Given the description of an element on the screen output the (x, y) to click on. 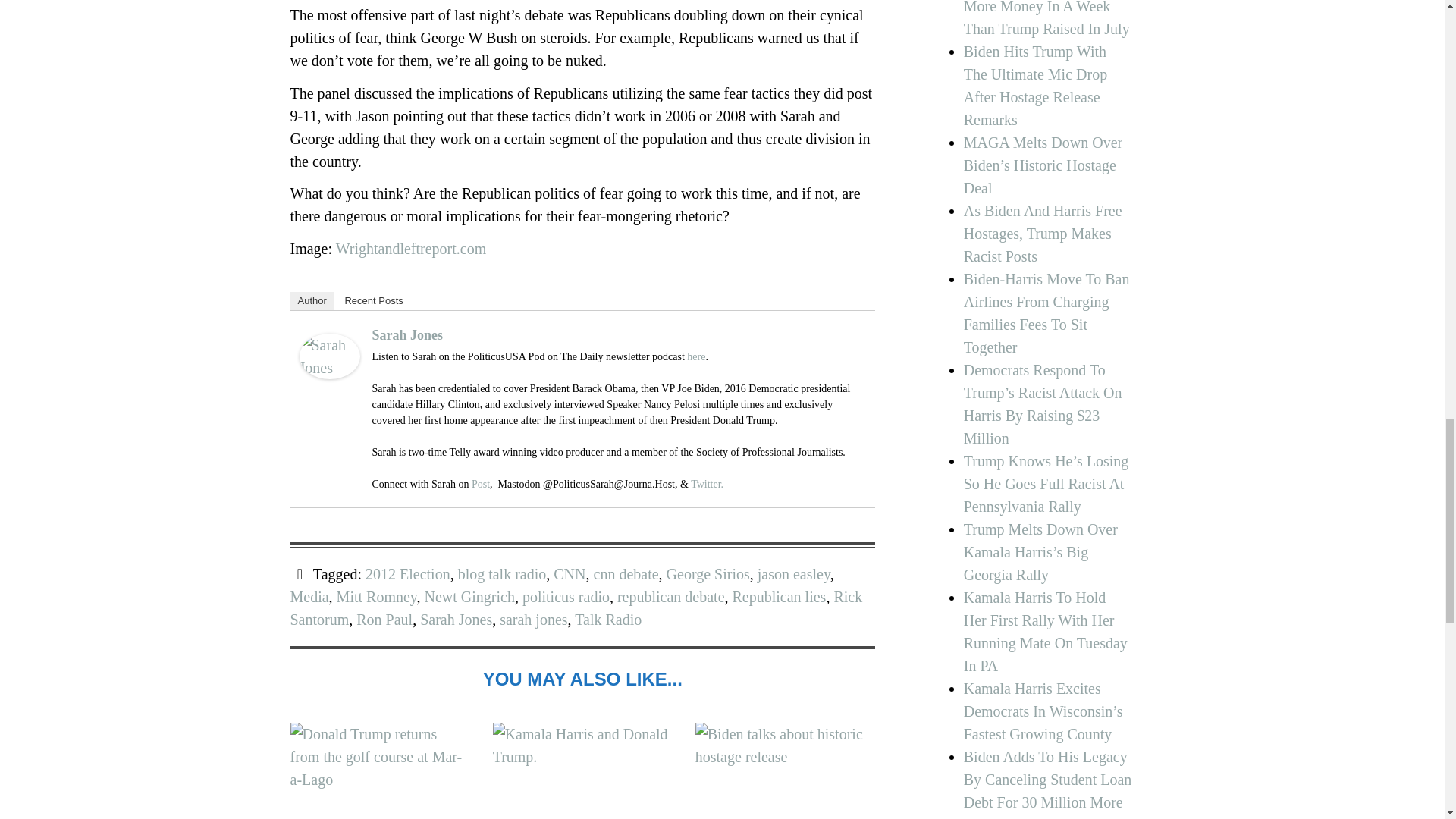
Wrightandleftreport.com (411, 248)
Recent Posts (373, 300)
blog talk radio (502, 573)
Author (311, 300)
2012 Election (407, 573)
here (695, 356)
Twitter. (706, 483)
Sarah Jones (406, 335)
Post (480, 483)
Sarah Jones (328, 356)
